Given the description of an element on the screen output the (x, y) to click on. 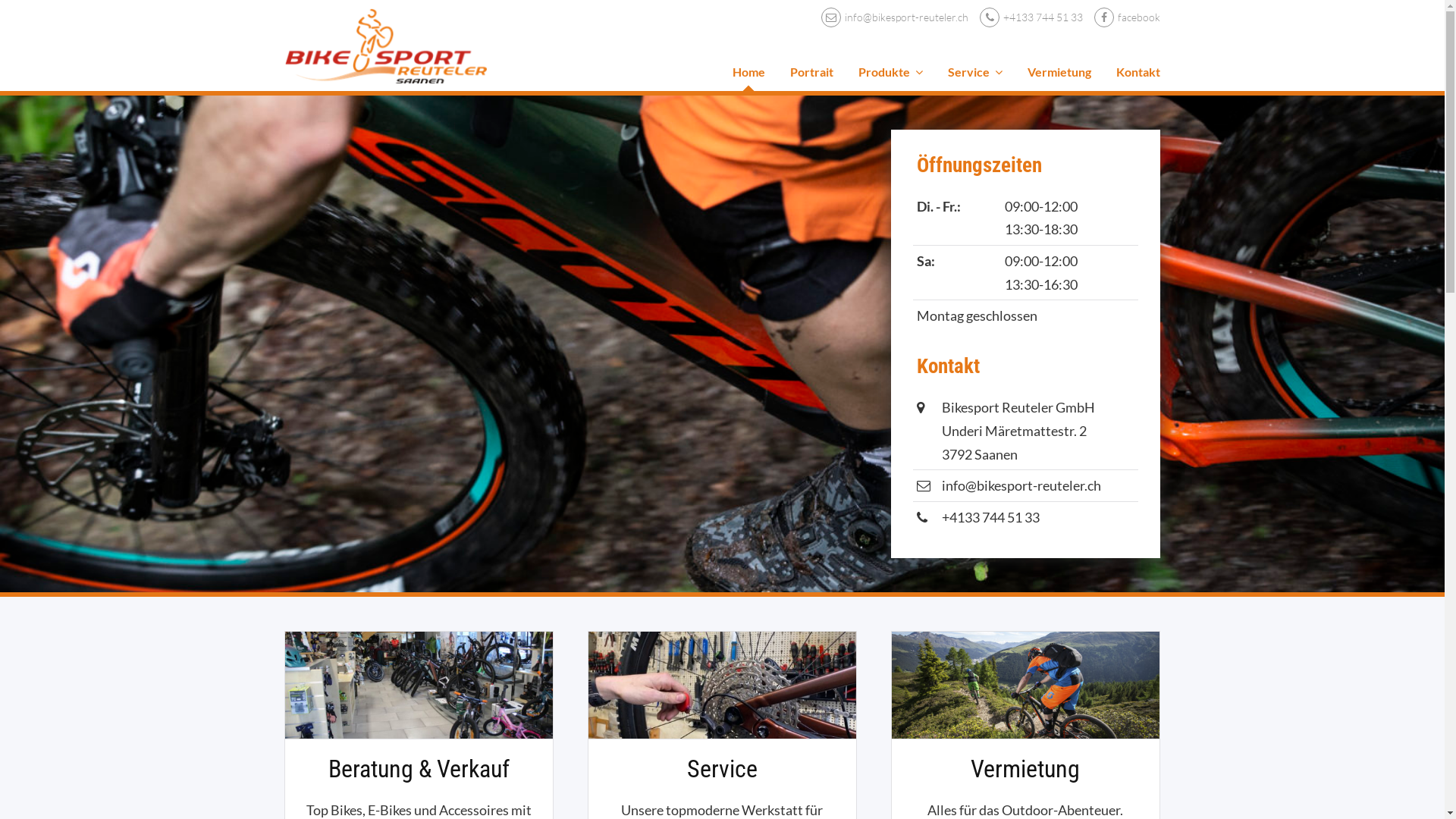
+4133 744 51 33 Element type: text (1025, 17)
Produkte Element type: text (890, 72)
Vermietung Element type: text (1059, 72)
info@bikesport-reuteler.ch Element type: text (1021, 485)
+4133 744 51 33 Element type: text (990, 517)
facebook Element type: text (1121, 17)
info@bikesport-reuteler.ch Element type: text (888, 17)
Home Element type: text (748, 72)
Portrait Element type: text (811, 72)
Service Element type: text (974, 72)
Kontakt Element type: text (1137, 72)
